Given the description of an element on the screen output the (x, y) to click on. 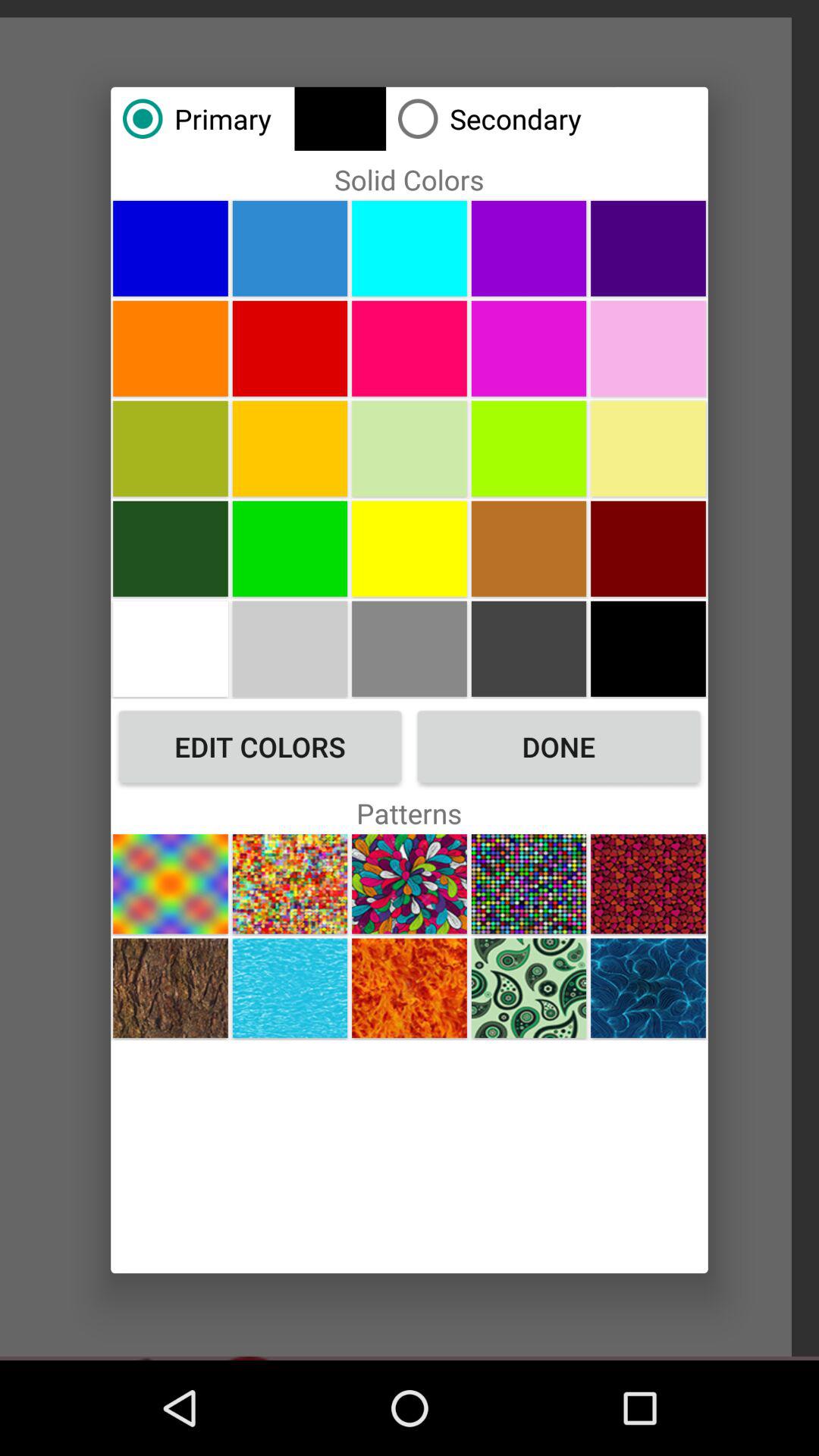
turn on the button at the bottom right corner (647, 987)
